Given the description of an element on the screen output the (x, y) to click on. 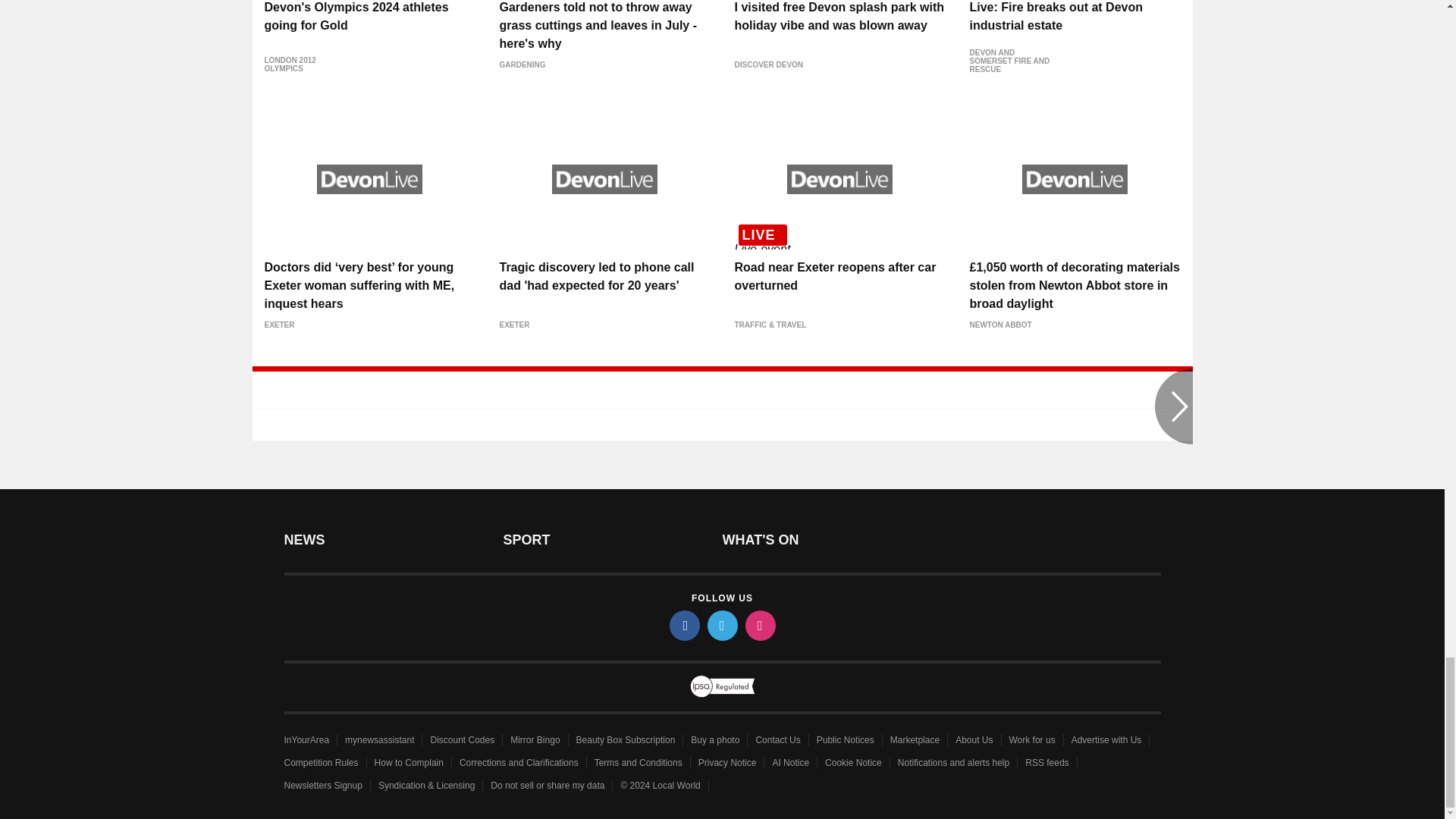
twitter (721, 625)
instagram (759, 625)
facebook (683, 625)
